Given the description of an element on the screen output the (x, y) to click on. 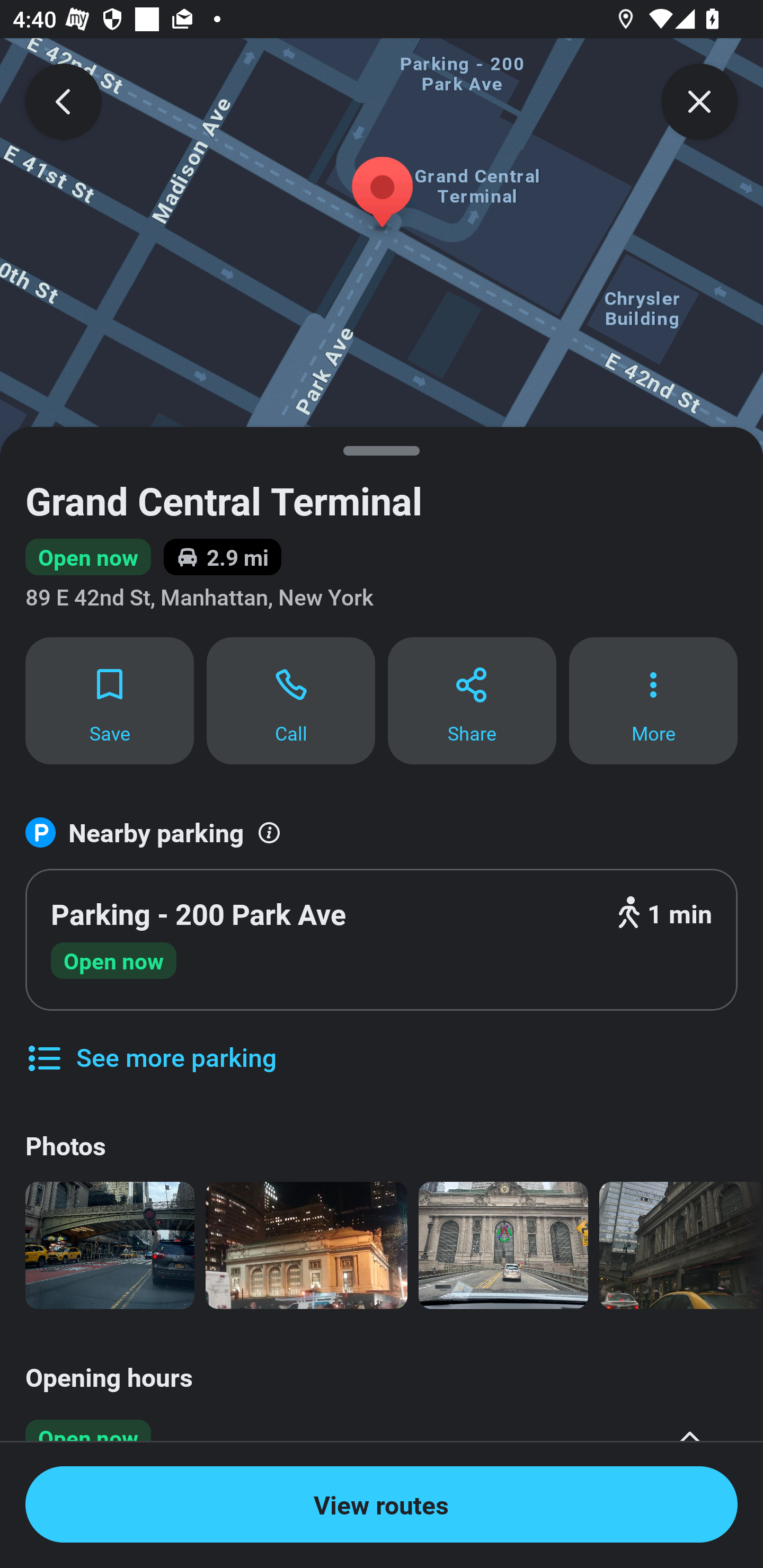
Save (109, 700)
Call (290, 700)
Share (471, 700)
More (653, 700)
Parking - 200 Park Ave 1 min Open now (381, 939)
See more parking (150, 1043)
View routes (381, 1504)
